Given the description of an element on the screen output the (x, y) to click on. 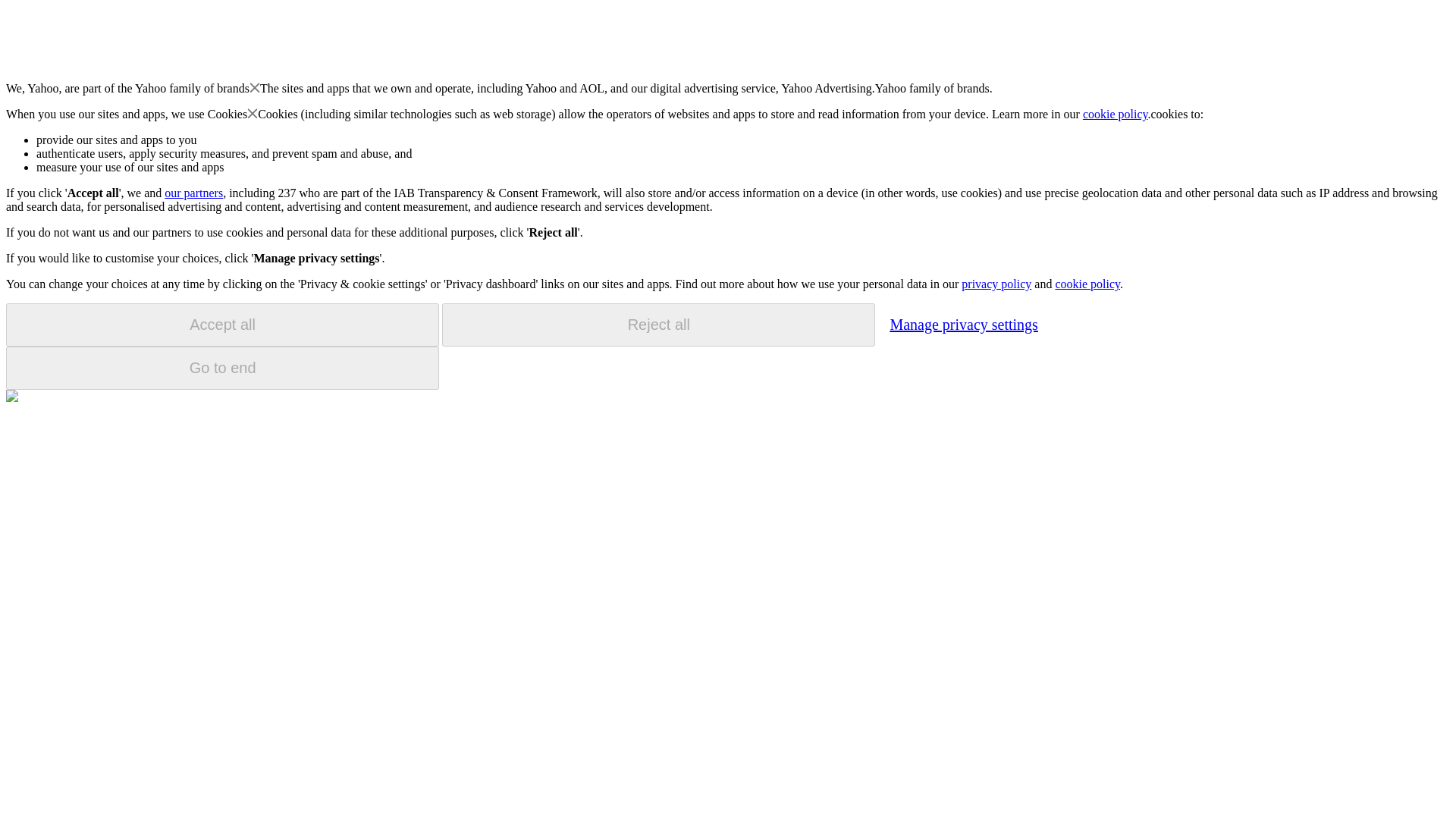
privacy policy (995, 283)
Reject all (658, 324)
Manage privacy settings (963, 323)
Go to end (222, 367)
Accept all (222, 324)
cookie policy (1086, 283)
our partners (193, 192)
cookie policy (1115, 113)
